Given the description of an element on the screen output the (x, y) to click on. 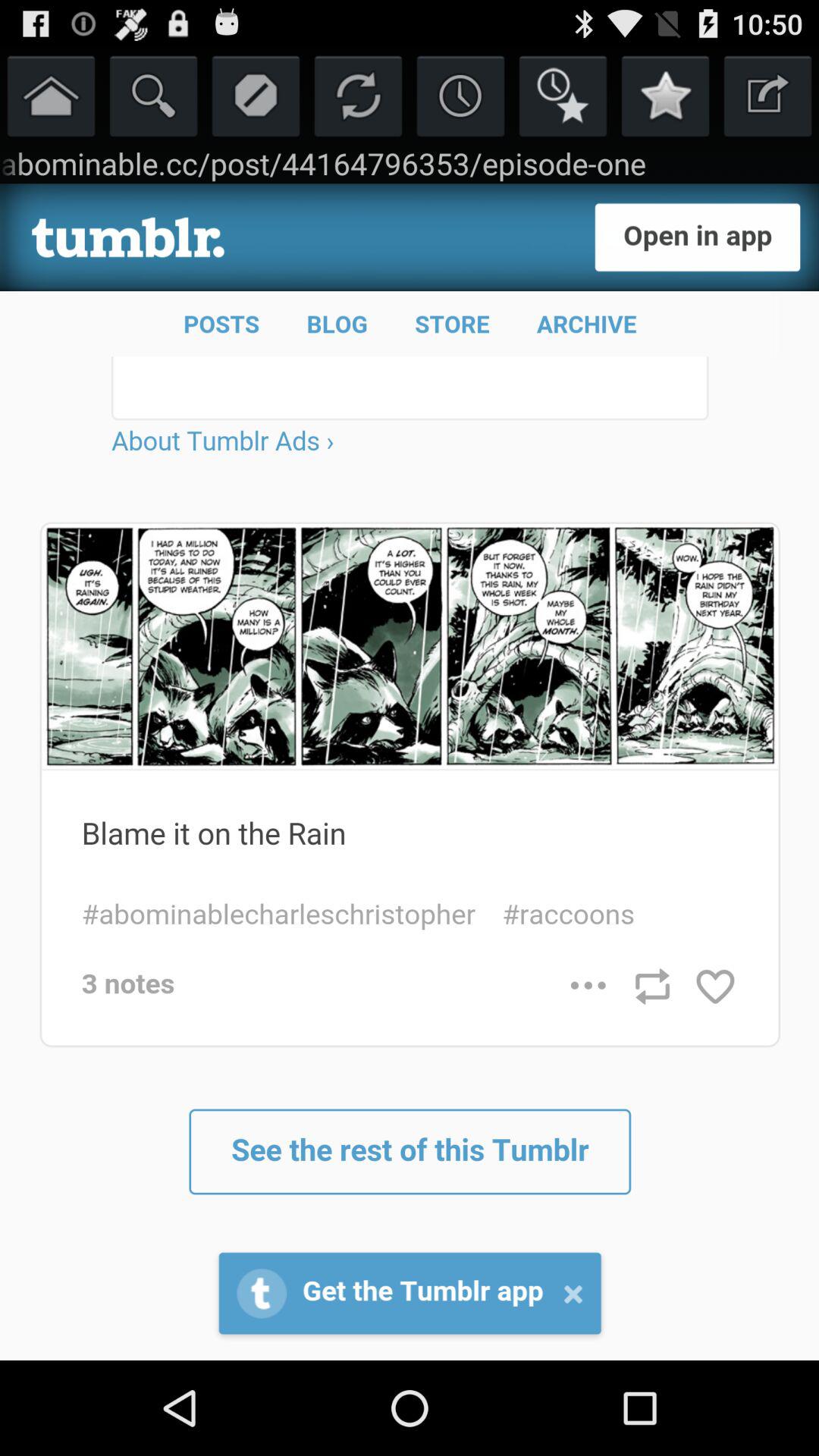
refresh page (358, 95)
